Given the description of an element on the screen output the (x, y) to click on. 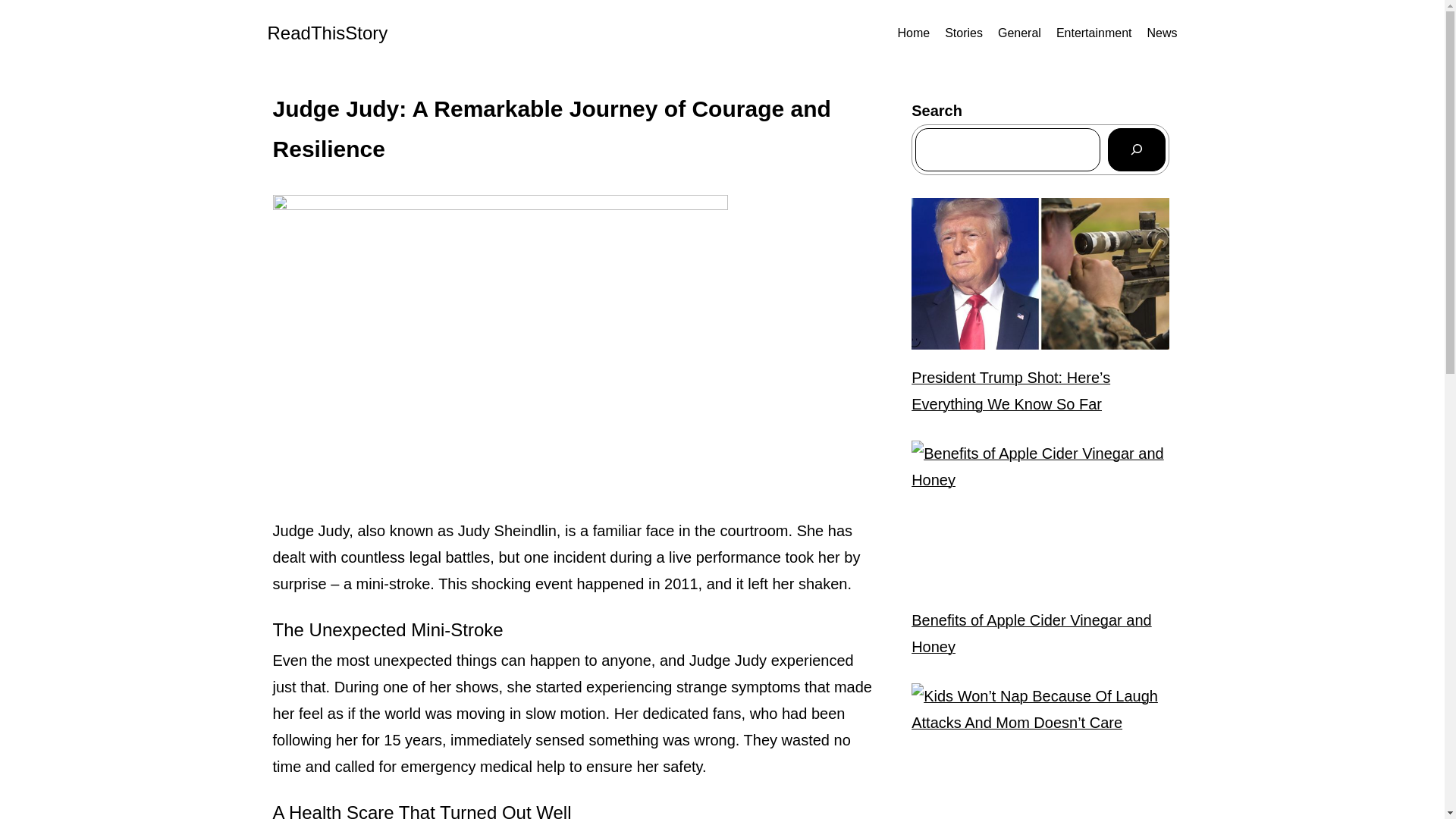
Entertainment (1094, 33)
Stories (963, 33)
Benefits of Apple Cider Vinegar and Honey (1040, 633)
Home (913, 33)
General (1019, 33)
News (1161, 33)
ReadThisStory (326, 32)
